Given the description of an element on the screen output the (x, y) to click on. 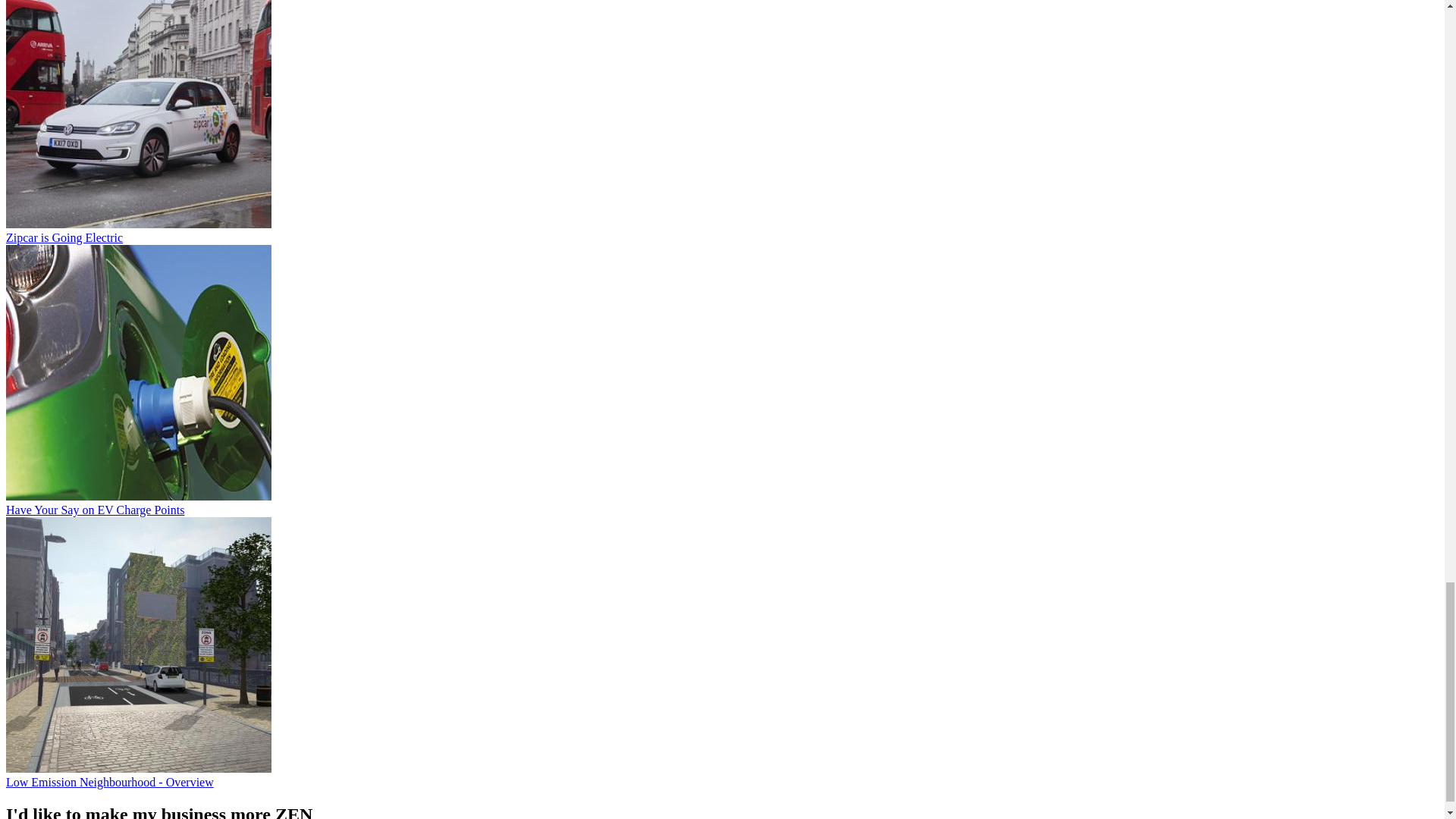
Have Your Say on EV Charge Points (94, 509)
Low Emission Neighbourhood - Overview (109, 781)
Paul Street visualisaton (137, 644)
Zipcar E-Golf (137, 114)
Zipcar is Going Electric (63, 237)
